Given the description of an element on the screen output the (x, y) to click on. 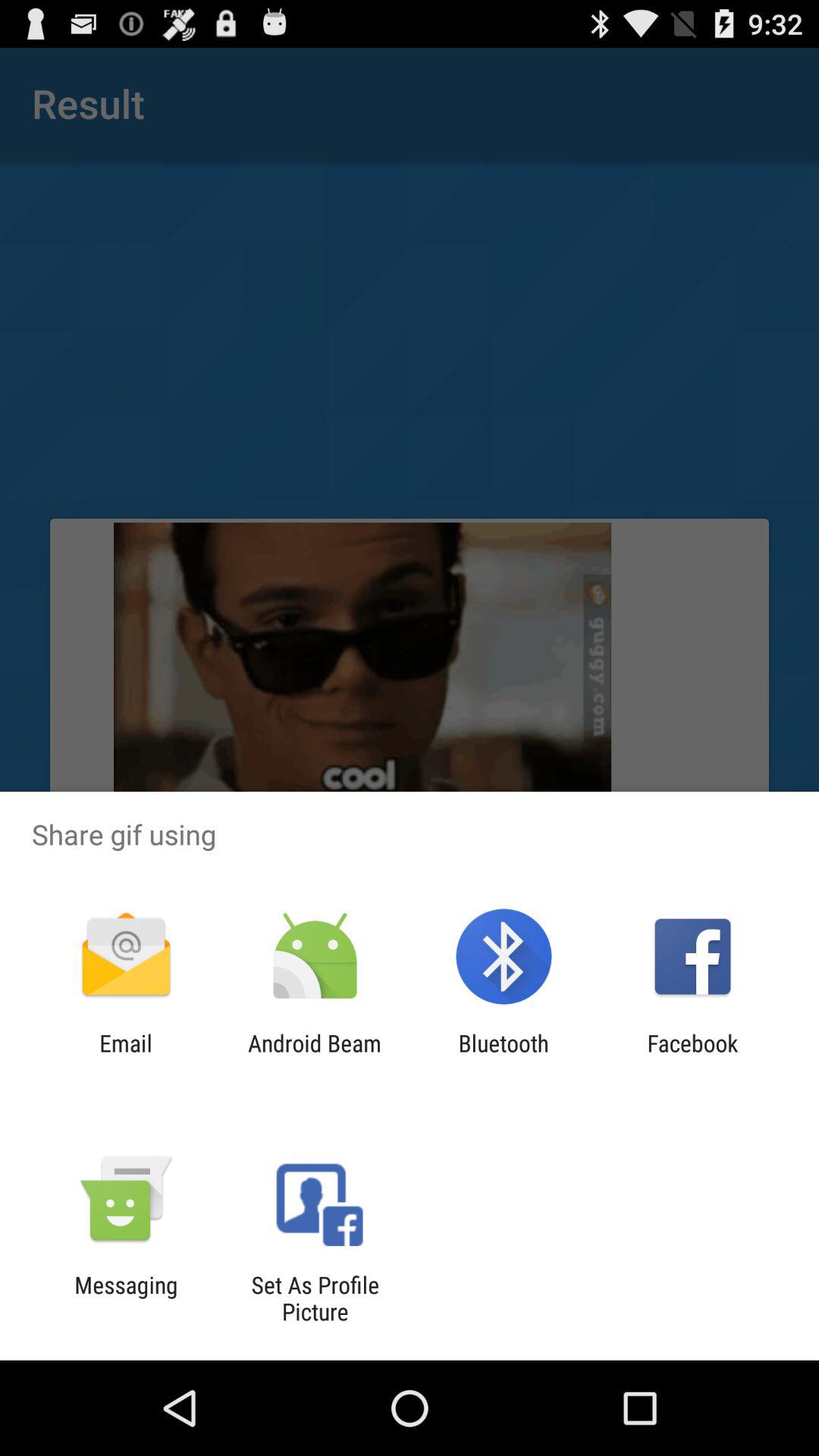
select item to the left of the facebook item (503, 1056)
